Given the description of an element on the screen output the (x, y) to click on. 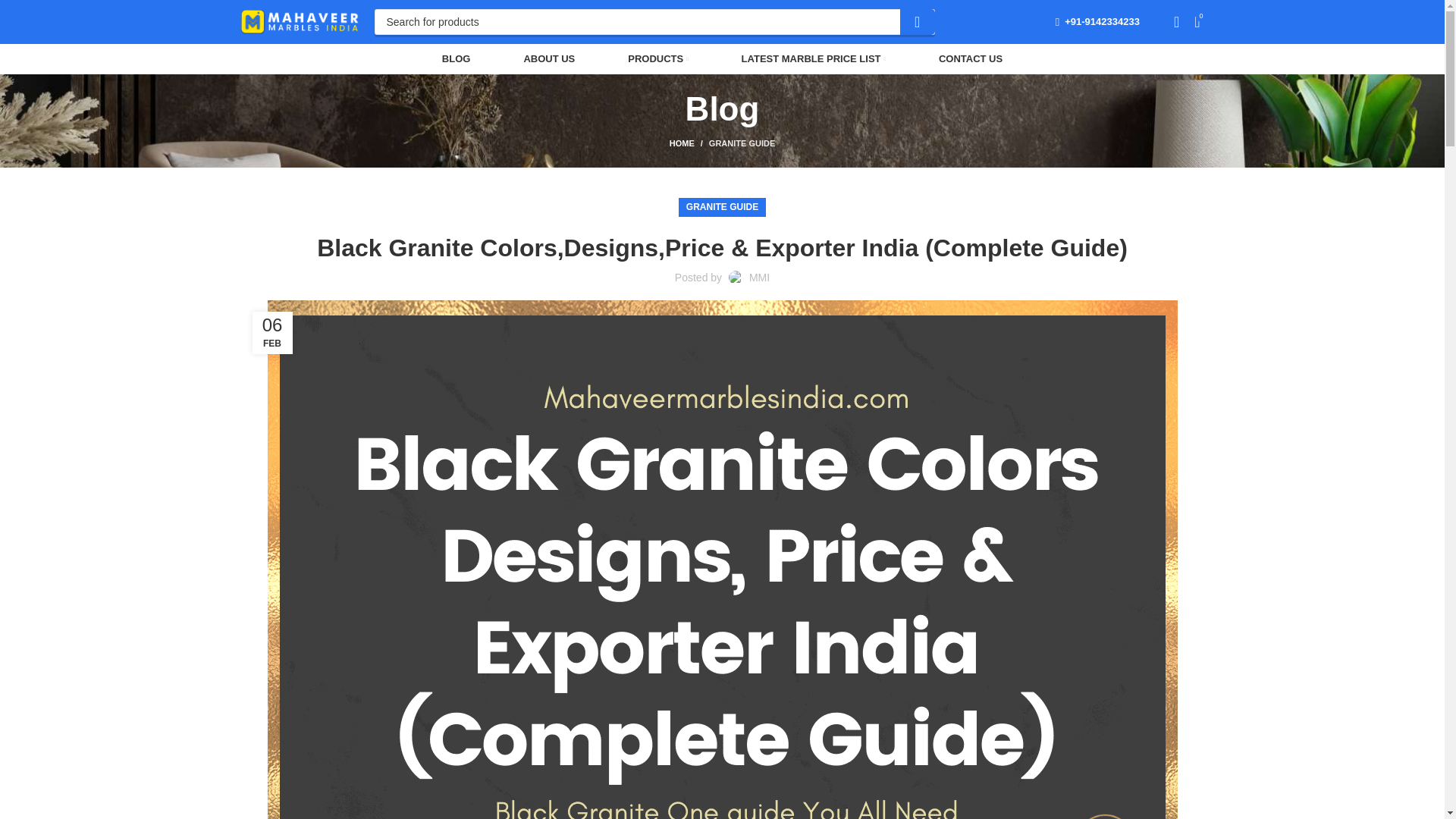
SEARCH (916, 22)
ABOUT US (548, 59)
BLOG (456, 59)
Search for products (654, 22)
PRODUCTS (657, 59)
